Given the description of an element on the screen output the (x, y) to click on. 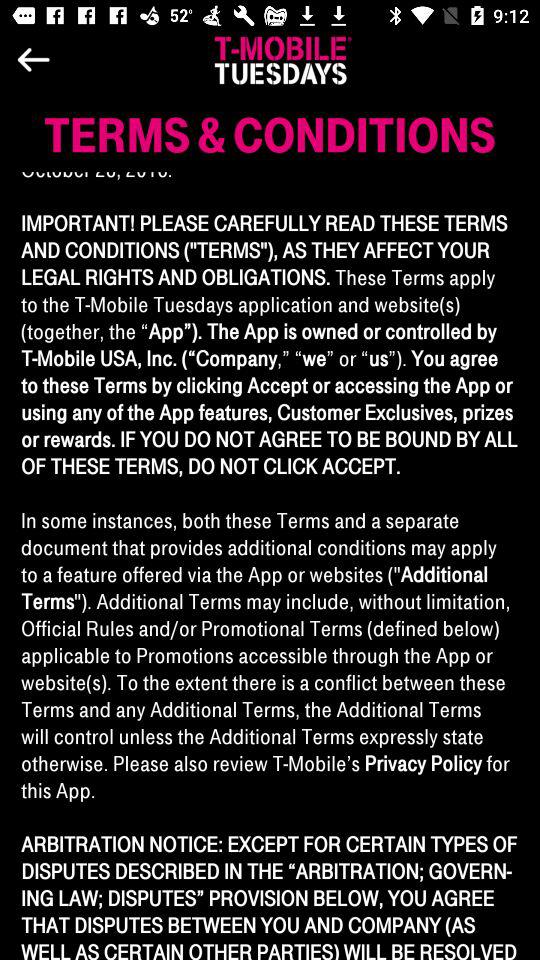
click on the arrow button at the top of the page (85, 60)
